Given the description of an element on the screen output the (x, y) to click on. 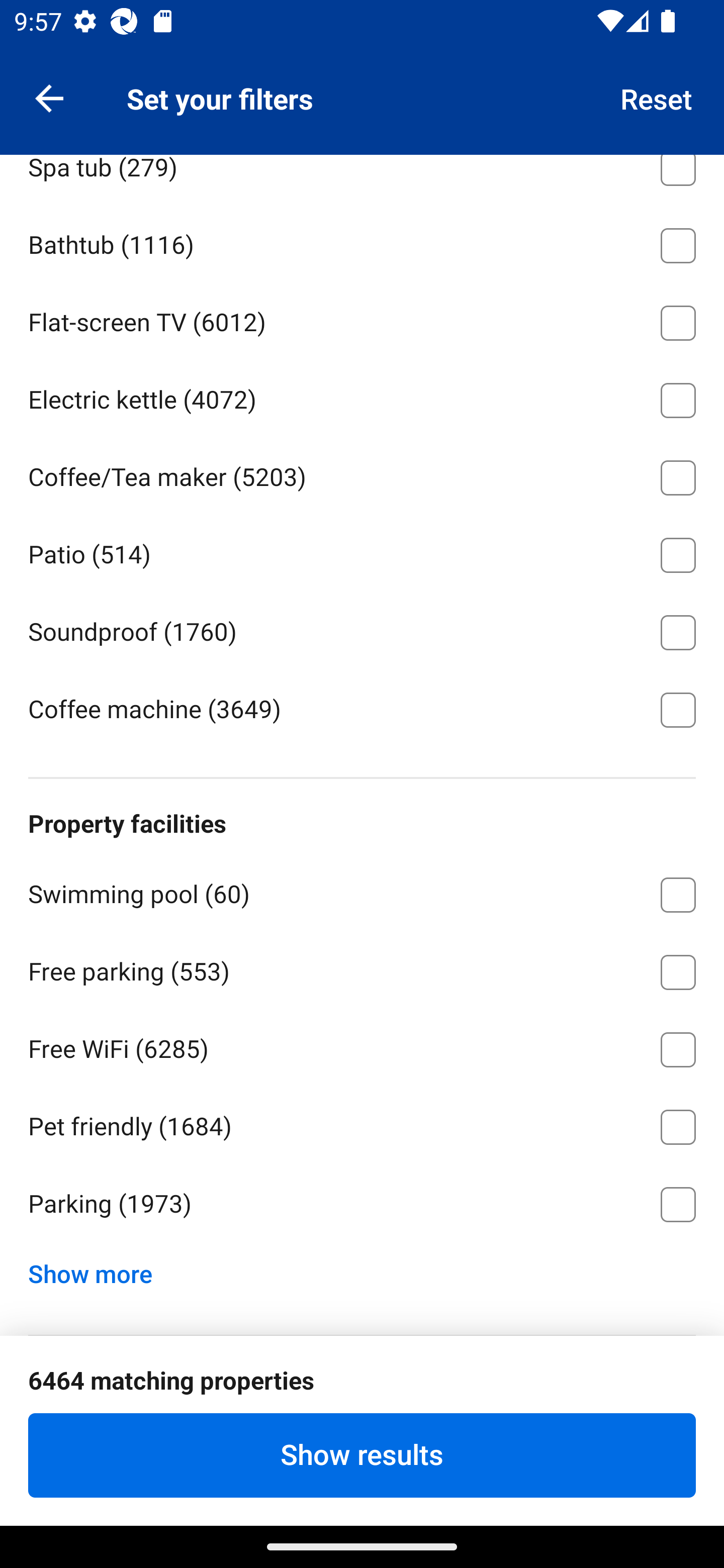
View ⁦(2865) (361, 86)
Navigate up (49, 97)
Reset (656, 97)
Spa tub ⁦(279) (361, 179)
Bathtub ⁦(1116) (361, 241)
Flat-screen TV ⁦(6012) (361, 319)
Electric kettle ⁦(4072) (361, 397)
Coffee/Tea maker ⁦(5203) (361, 473)
Patio ⁦(514) (361, 551)
Soundproof ⁦(1760) (361, 629)
Coffee machine ⁦(3649) (361, 708)
Swimming pool ⁦(60) (361, 890)
Free parking ⁦(553) (361, 968)
Free WiFi ⁦(6285) (361, 1046)
Pet friendly ⁦(1684) (361, 1123)
Parking ⁦(1973) (361, 1203)
Show more (97, 1269)
Show results (361, 1454)
